Given the description of an element on the screen output the (x, y) to click on. 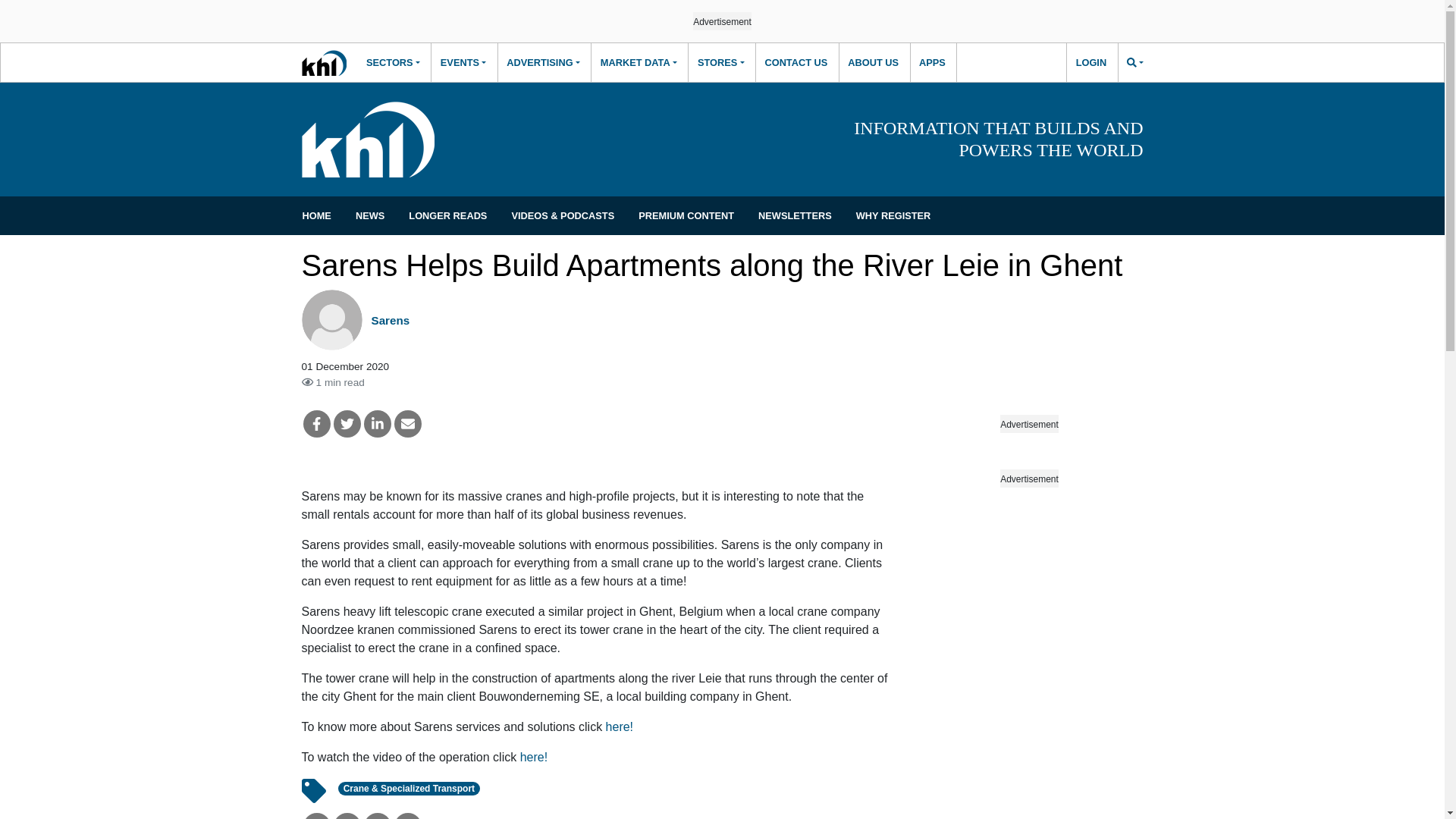
Share this page on Twitter (347, 816)
Share this page on Linkedin (377, 816)
Share this page on Facebook (316, 816)
Share this page on Twitter (347, 423)
Share this page via email (408, 423)
Share this page on Linkedin (377, 423)
Share this page via email (408, 816)
Share this page on Facebook (316, 423)
